Given the description of an element on the screen output the (x, y) to click on. 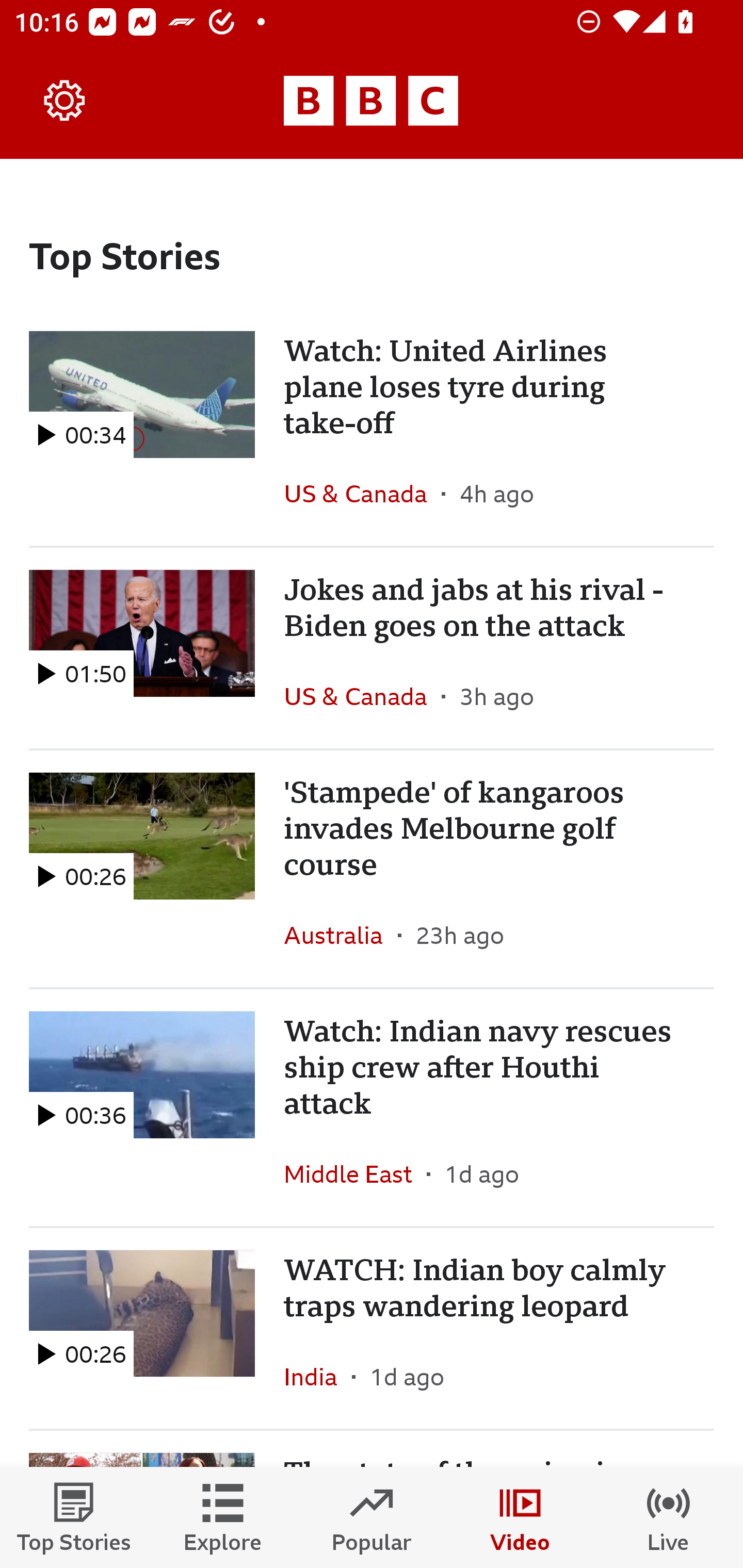
Settings (64, 100)
US & Canada In the section US & Canada (362, 493)
US & Canada In the section US & Canada (362, 695)
Australia In the section Australia (340, 934)
Middle East In the section Middle East (354, 1173)
India In the section India (317, 1376)
Top Stories (74, 1517)
Explore (222, 1517)
Popular (371, 1517)
Live (668, 1517)
